Given the description of an element on the screen output the (x, y) to click on. 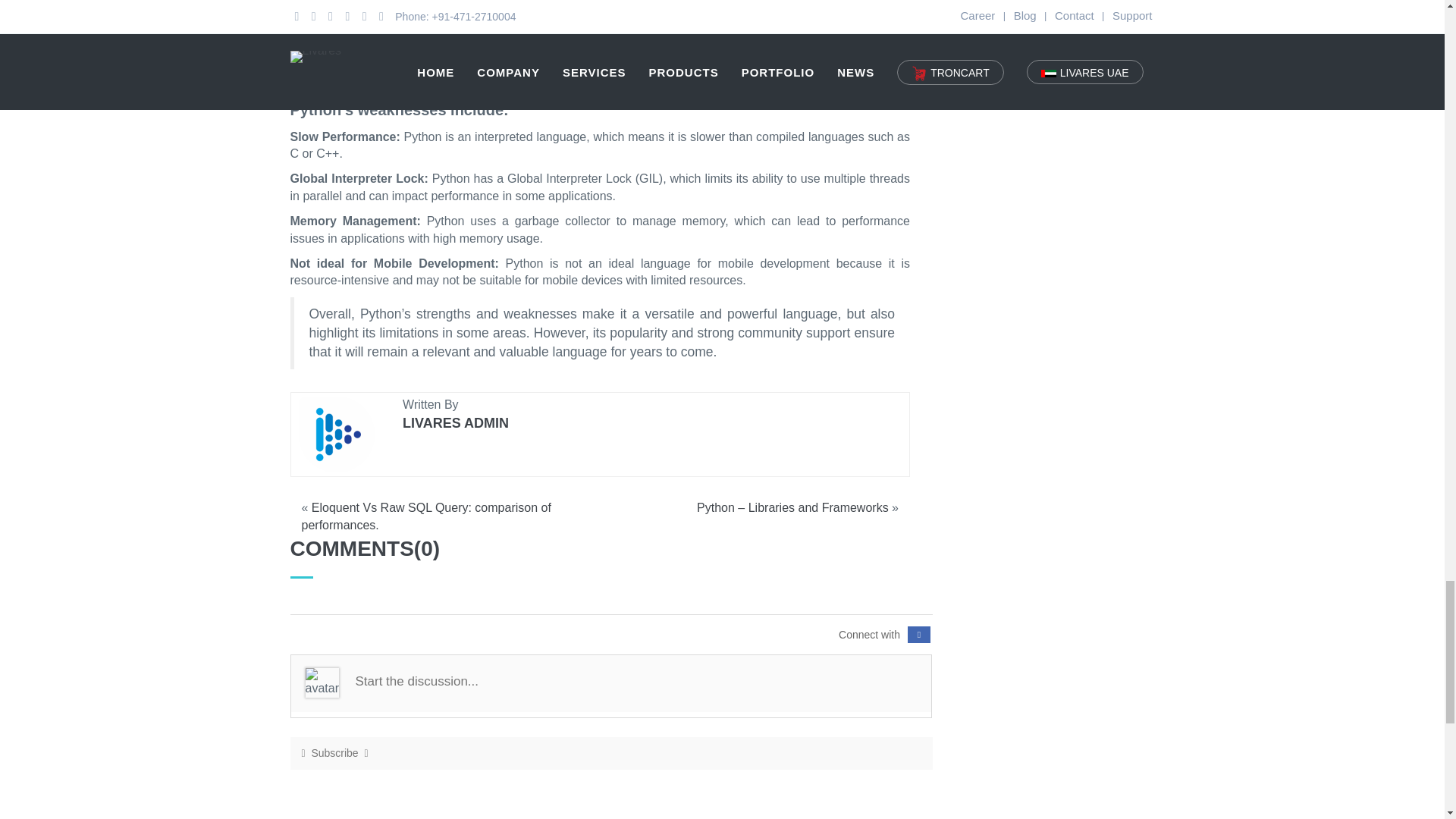
Eloquent Vs Raw SQL Query: comparison of performances. (426, 516)
LIVARES ADMIN (455, 422)
